Given the description of an element on the screen output the (x, y) to click on. 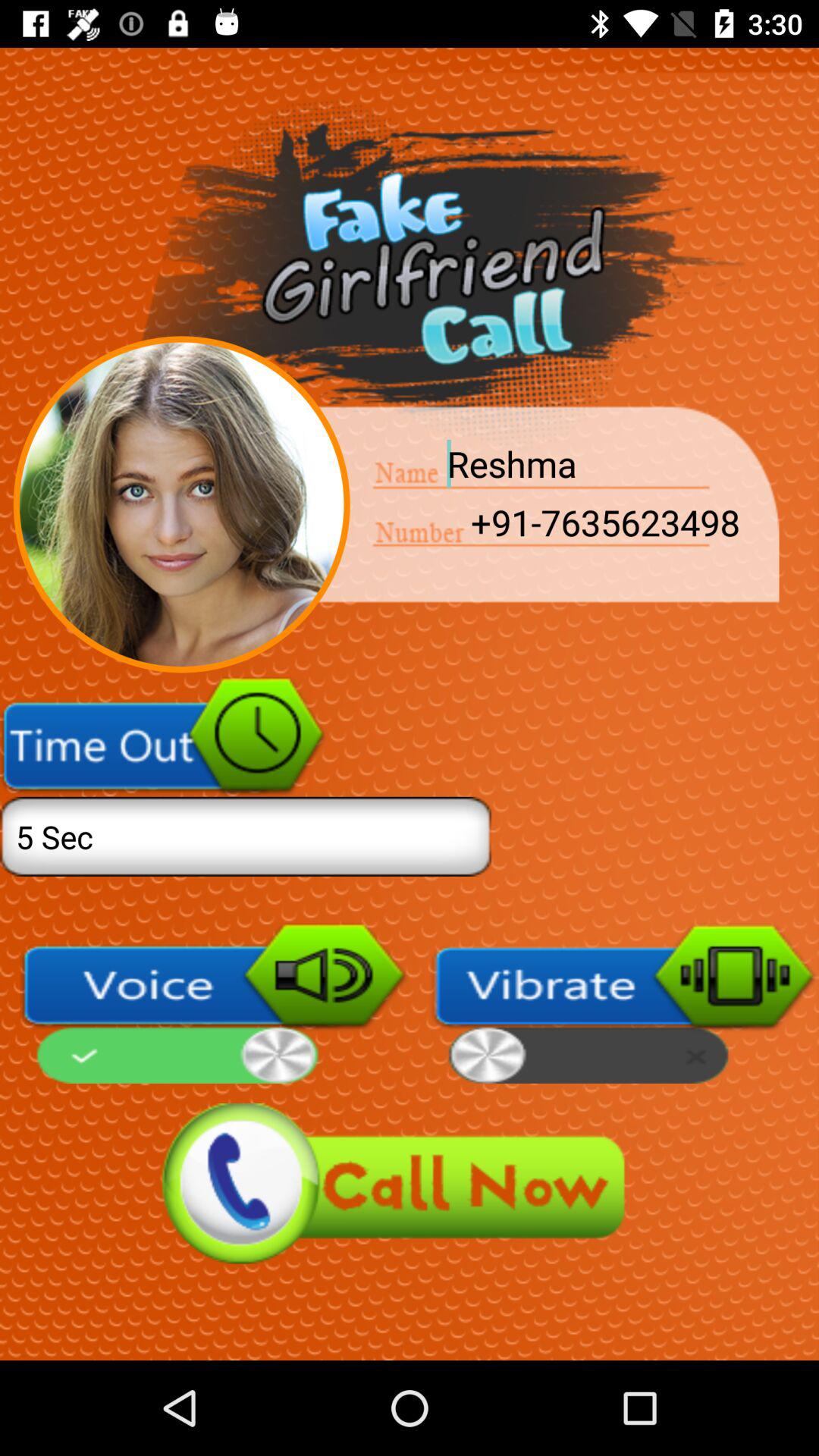
fake girlfriend image identifier (181, 504)
